Given the description of an element on the screen output the (x, y) to click on. 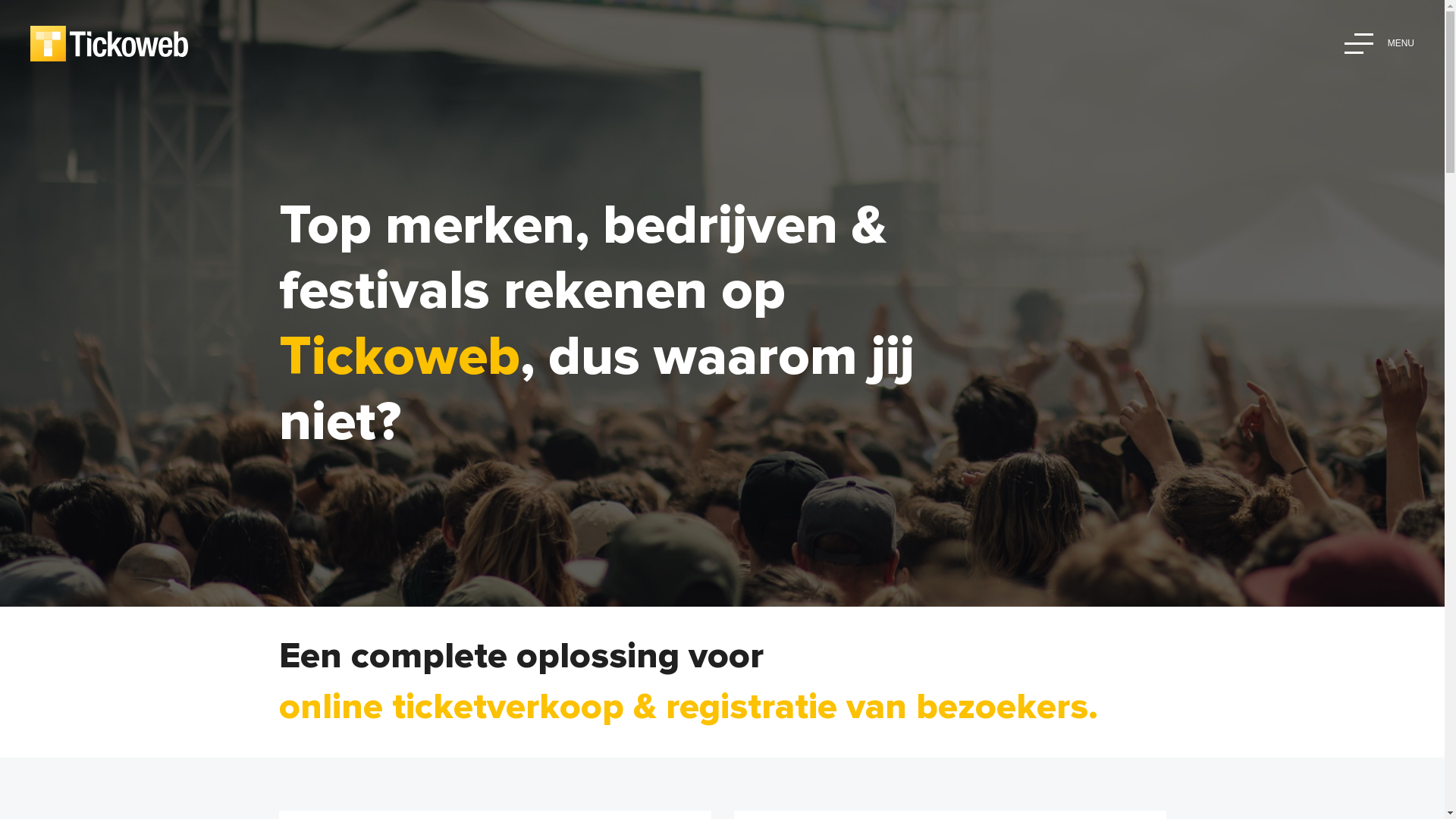
MENU Element type: text (1379, 43)
